Given the description of an element on the screen output the (x, y) to click on. 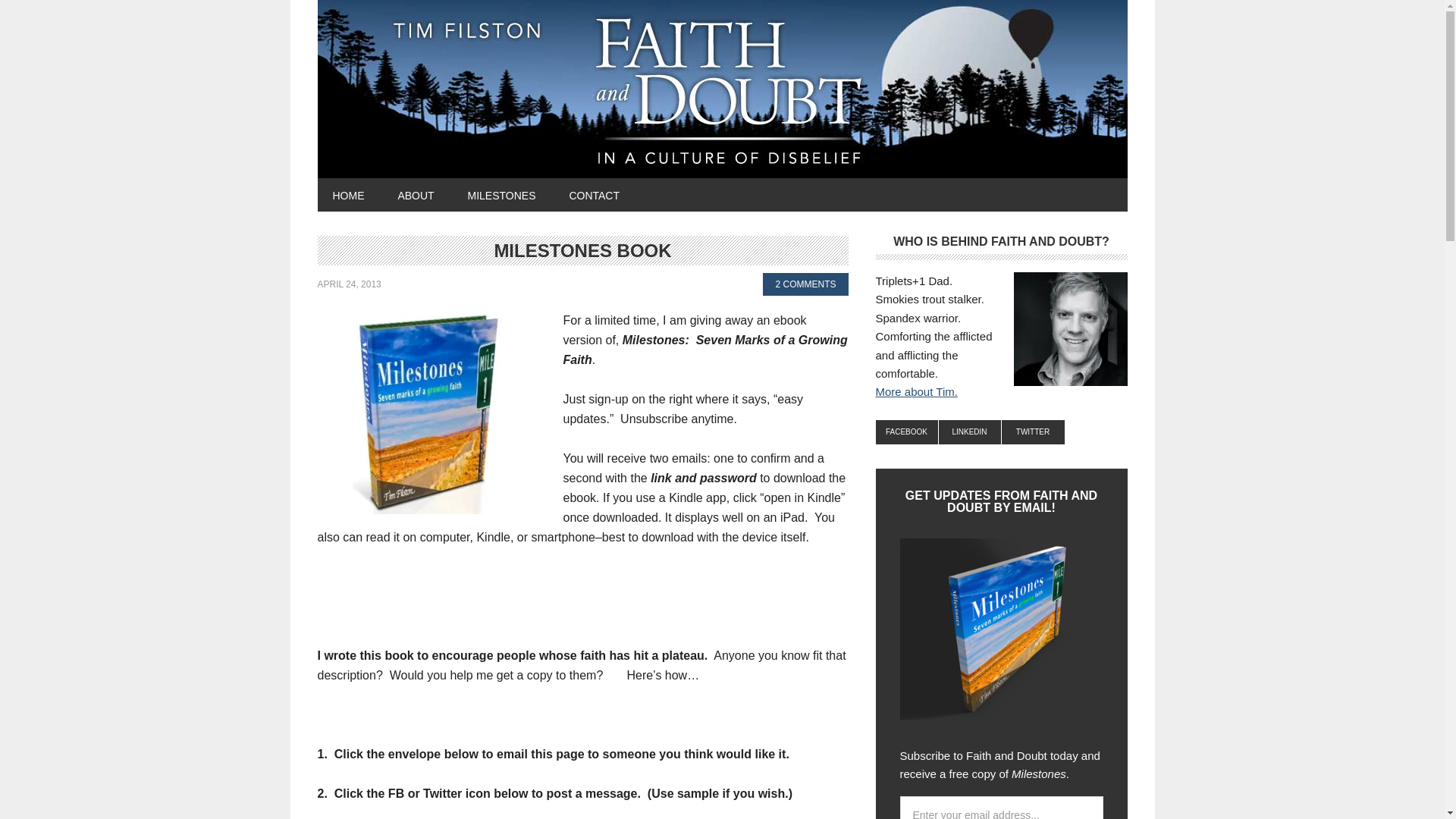
HOME (347, 194)
LINKEDIN (970, 432)
MILESTONES (501, 194)
More about Tim. (915, 391)
2 COMMENTS (804, 283)
TWITTER (1032, 432)
CONTACT (593, 194)
FACEBOOK (906, 432)
ABOUT (414, 194)
